Given the description of an element on the screen output the (x, y) to click on. 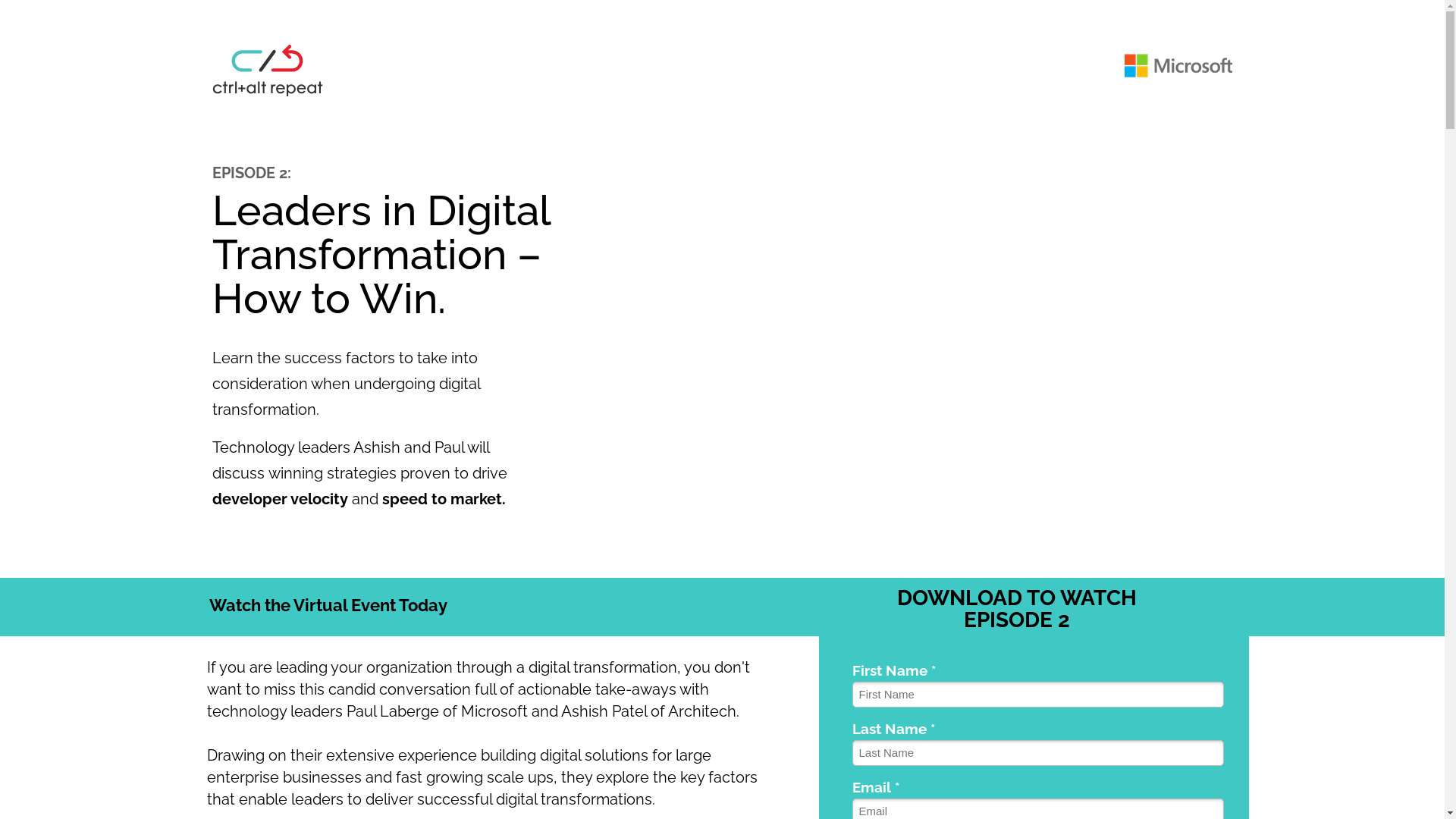
YouTube video player Element type: hover (910, 347)
